Given the description of an element on the screen output the (x, y) to click on. 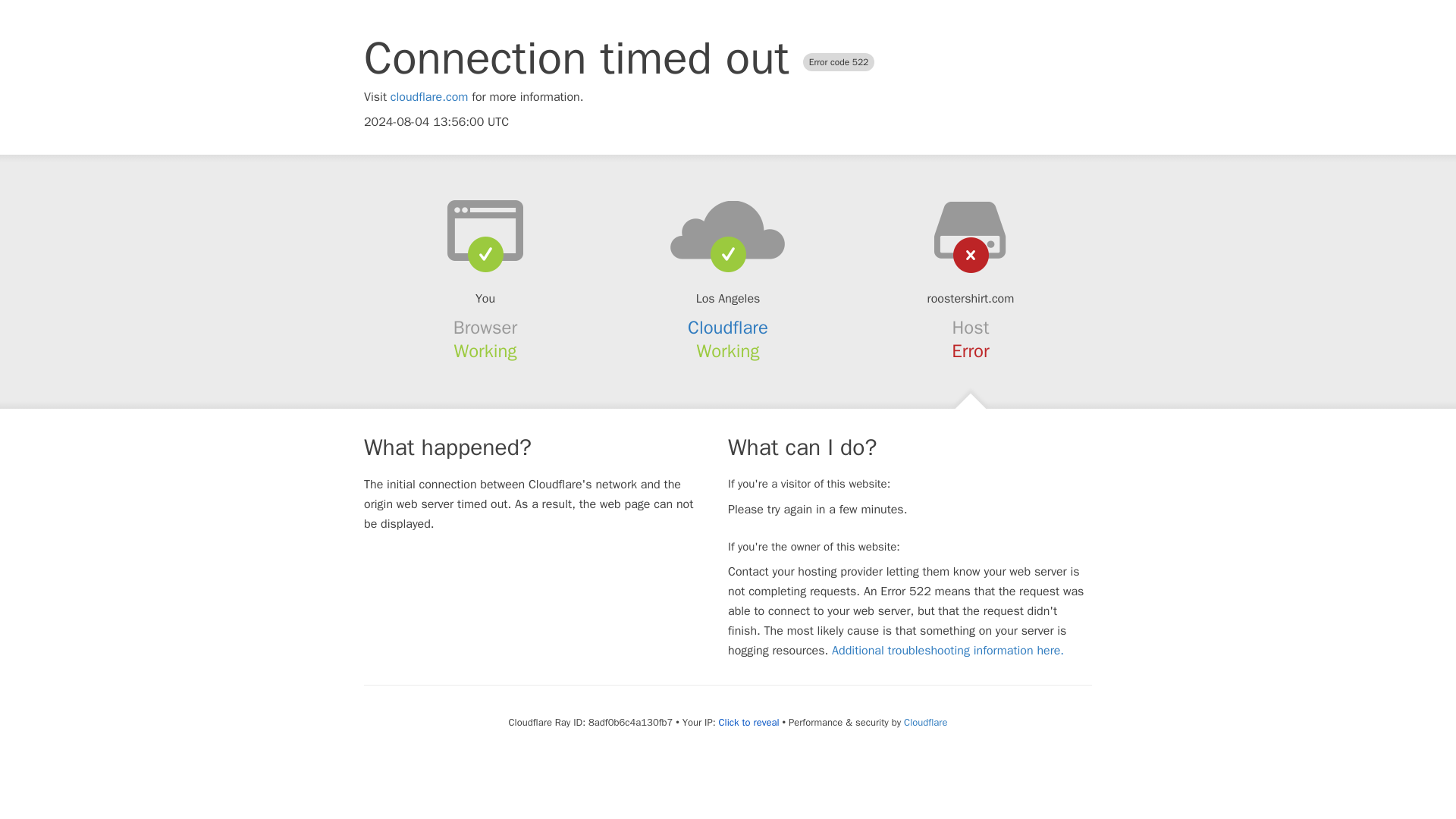
Click to reveal (748, 722)
cloudflare.com (429, 96)
Additional troubleshooting information here. (947, 650)
Cloudflare (727, 327)
Cloudflare (925, 721)
